Given the description of an element on the screen output the (x, y) to click on. 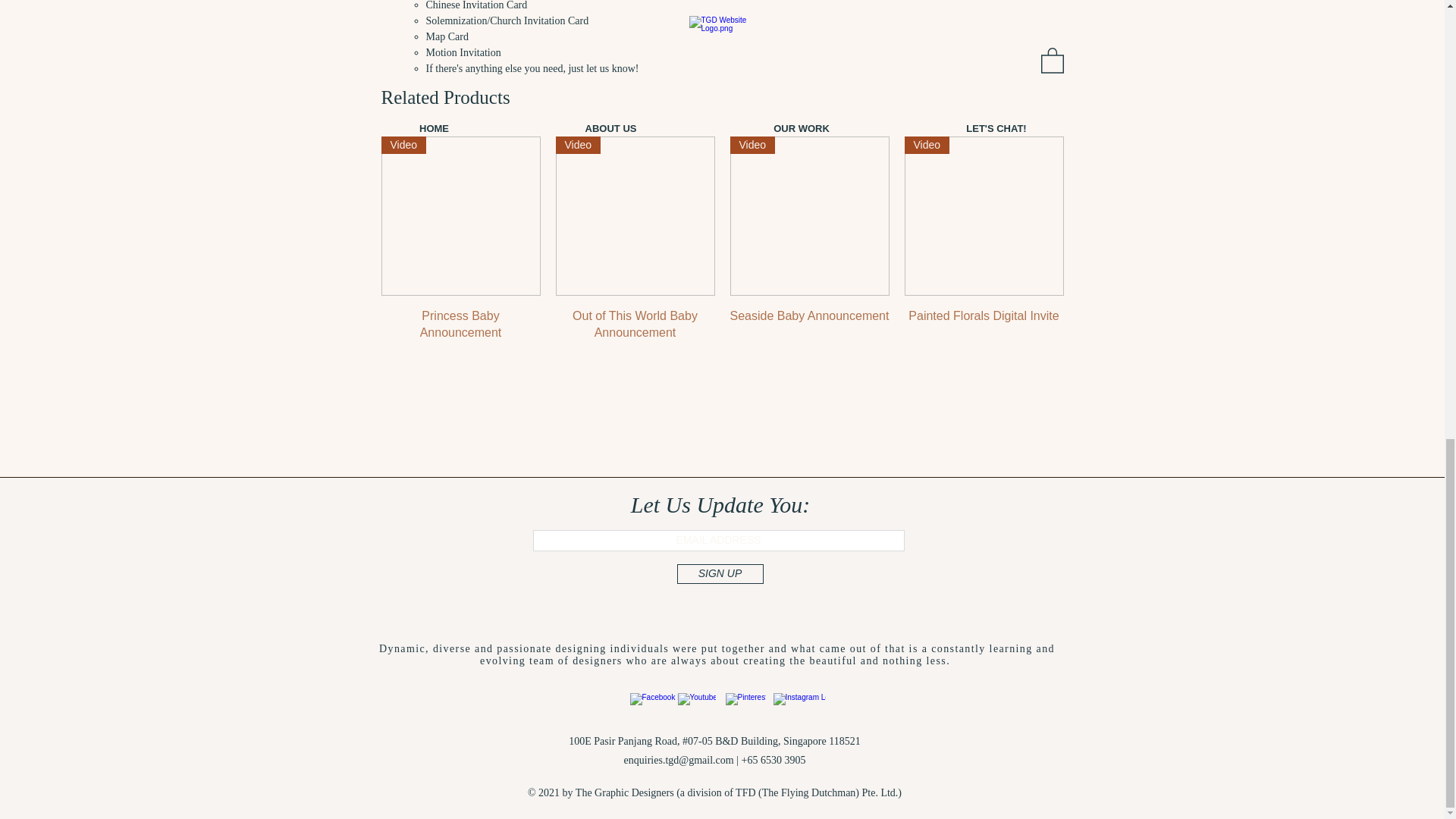
Video (808, 215)
Painted Florals Digital Invite (983, 324)
Seaside Baby Announcement (808, 324)
Out of This World Baby Announcement (634, 324)
Video (983, 215)
Video (634, 215)
Video (460, 215)
Princess Baby Announcement (460, 324)
